Given the description of an element on the screen output the (x, y) to click on. 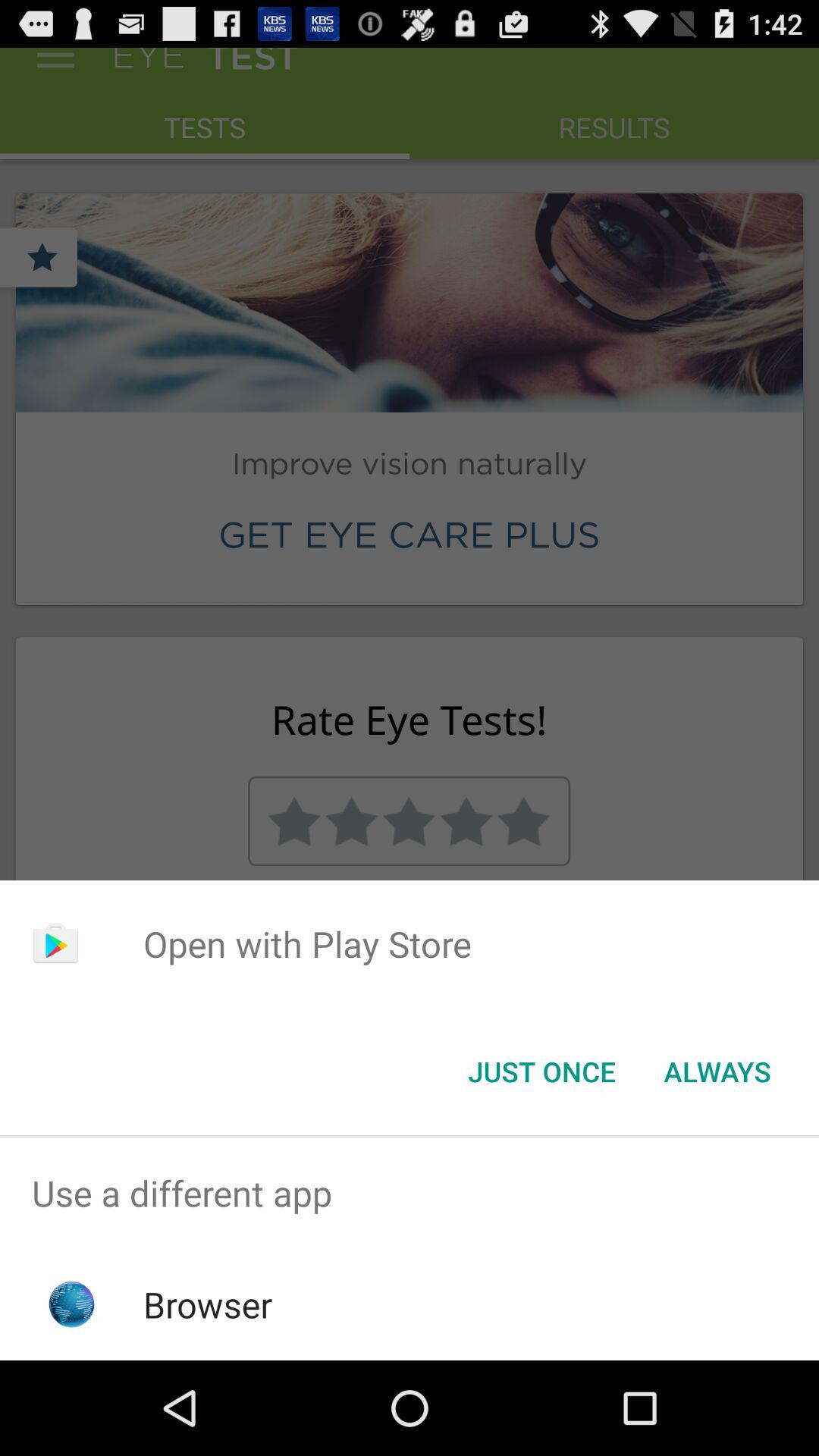
tap icon below use a different item (207, 1304)
